Given the description of an element on the screen output the (x, y) to click on. 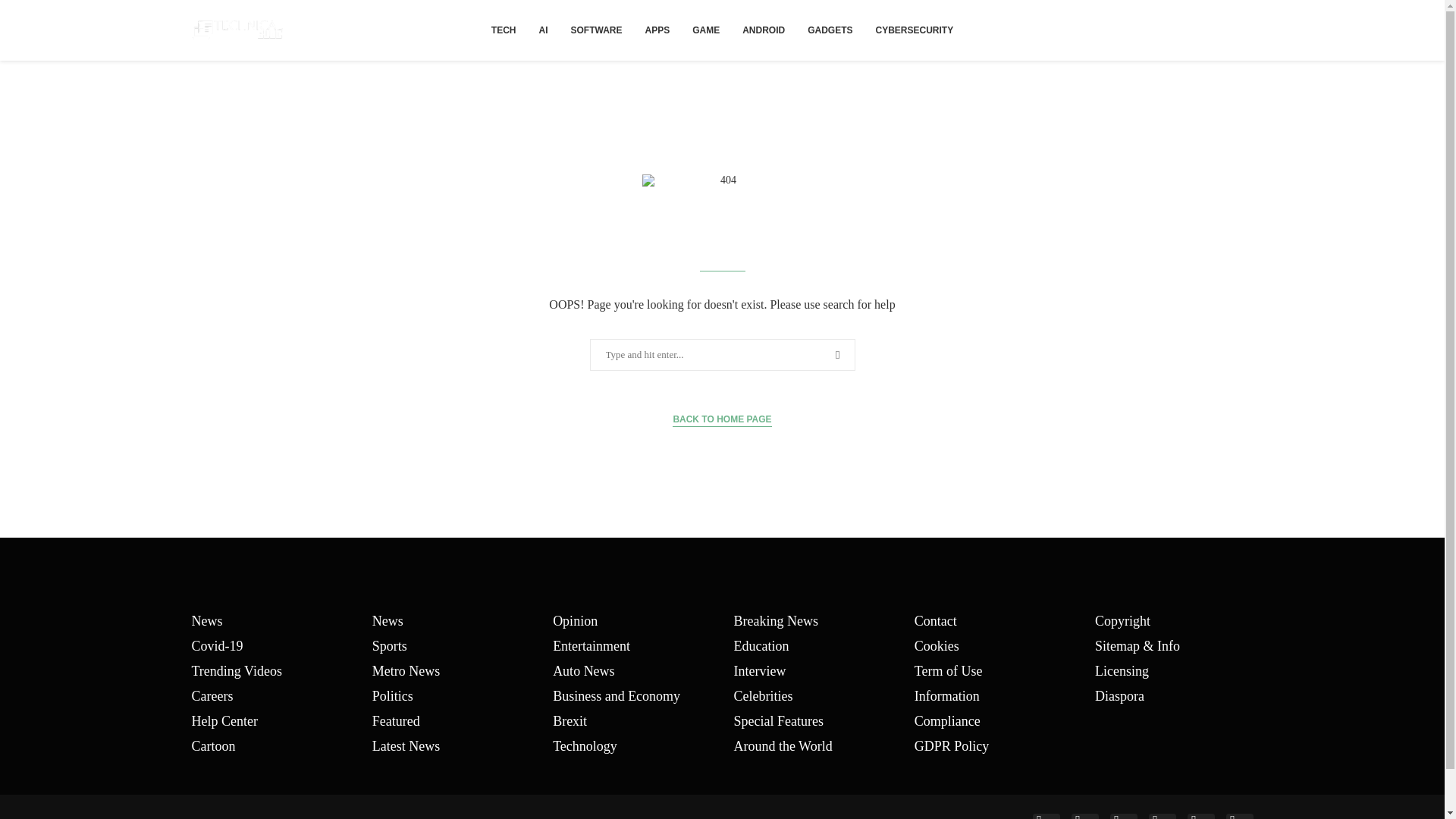
Metro News (405, 671)
TECH (503, 30)
Sports (389, 645)
Help Center (223, 721)
APPS (657, 30)
GAME (705, 30)
Search (35, 15)
GADGETS (829, 30)
News (387, 621)
CYBERSECURITY (914, 30)
